Given the description of an element on the screen output the (x, y) to click on. 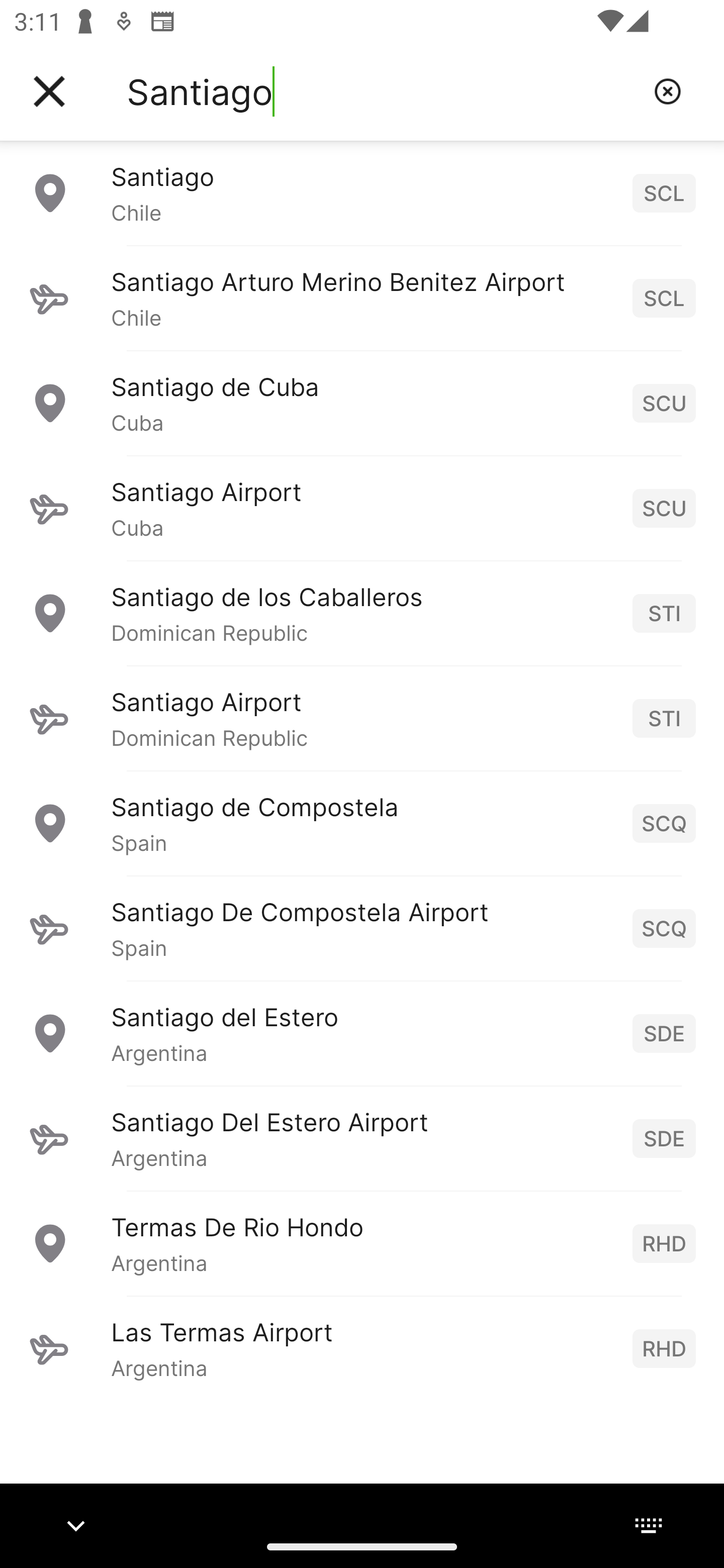
Santiago (382, 91)
Santiago Chile SCL (362, 192)
Santiago Arturo Merino Benitez Airport Chile SCL (362, 297)
Santiago de Cuba Cuba SCU (362, 402)
Santiago Airport Cuba SCU (362, 507)
Santiago de los Caballeros Dominican Republic STI (362, 612)
Santiago Airport Dominican Republic STI (362, 717)
Santiago de Compostela Spain SCQ (362, 822)
Santiago De Compostela Airport Spain SCQ (362, 928)
Santiago del Estero Argentina SDE (362, 1033)
Santiago Del Estero Airport Argentina SDE (362, 1138)
Termas De Rio Hondo Argentina RHD (362, 1243)
Las Termas Airport Argentina RHD (362, 1348)
